Given the description of an element on the screen output the (x, y) to click on. 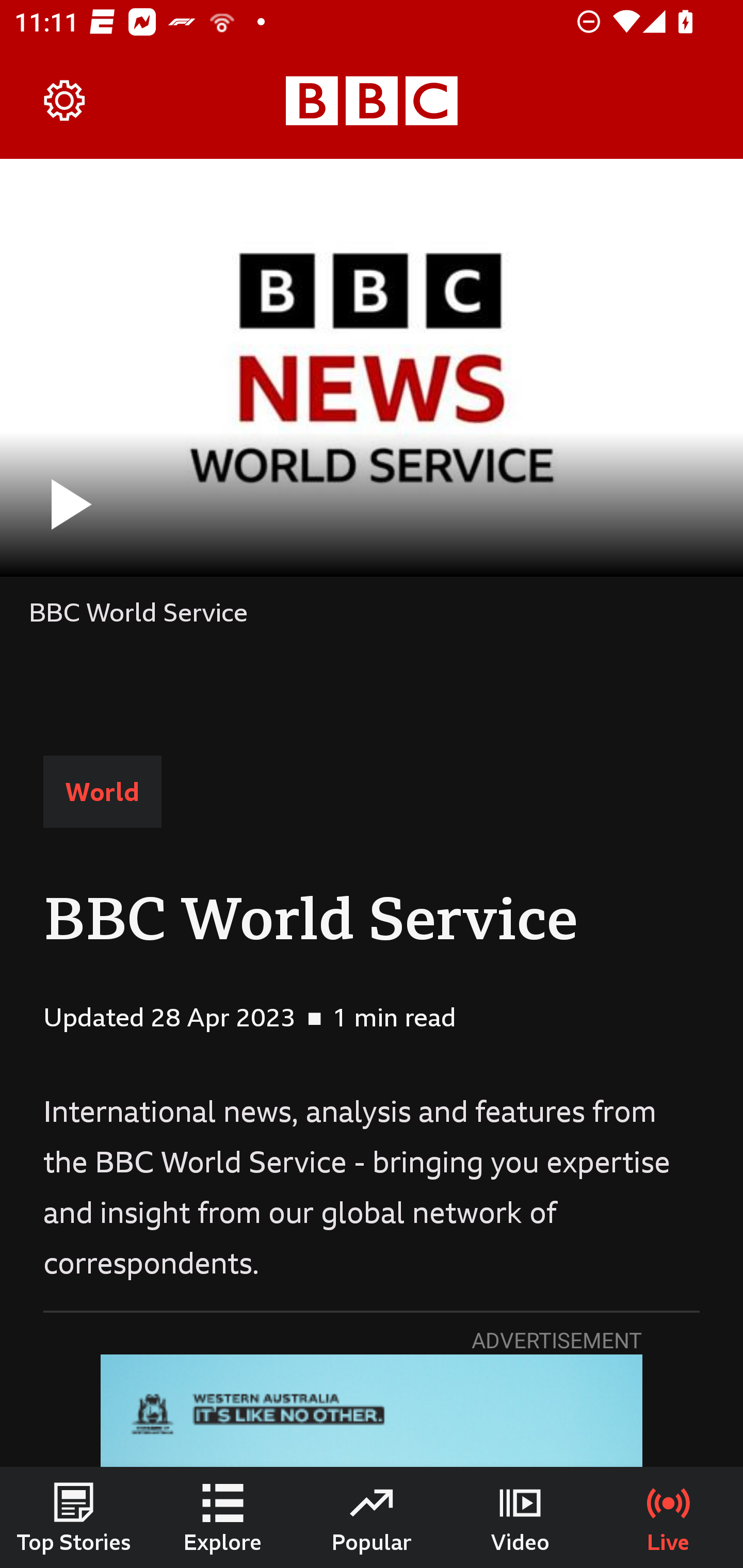
Settings (64, 100)
play fullscreen (371, 367)
World (102, 791)
Advertisement (371, 1410)
Top Stories (74, 1517)
Explore (222, 1517)
Popular (371, 1517)
Video (519, 1517)
